Given the description of an element on the screen output the (x, y) to click on. 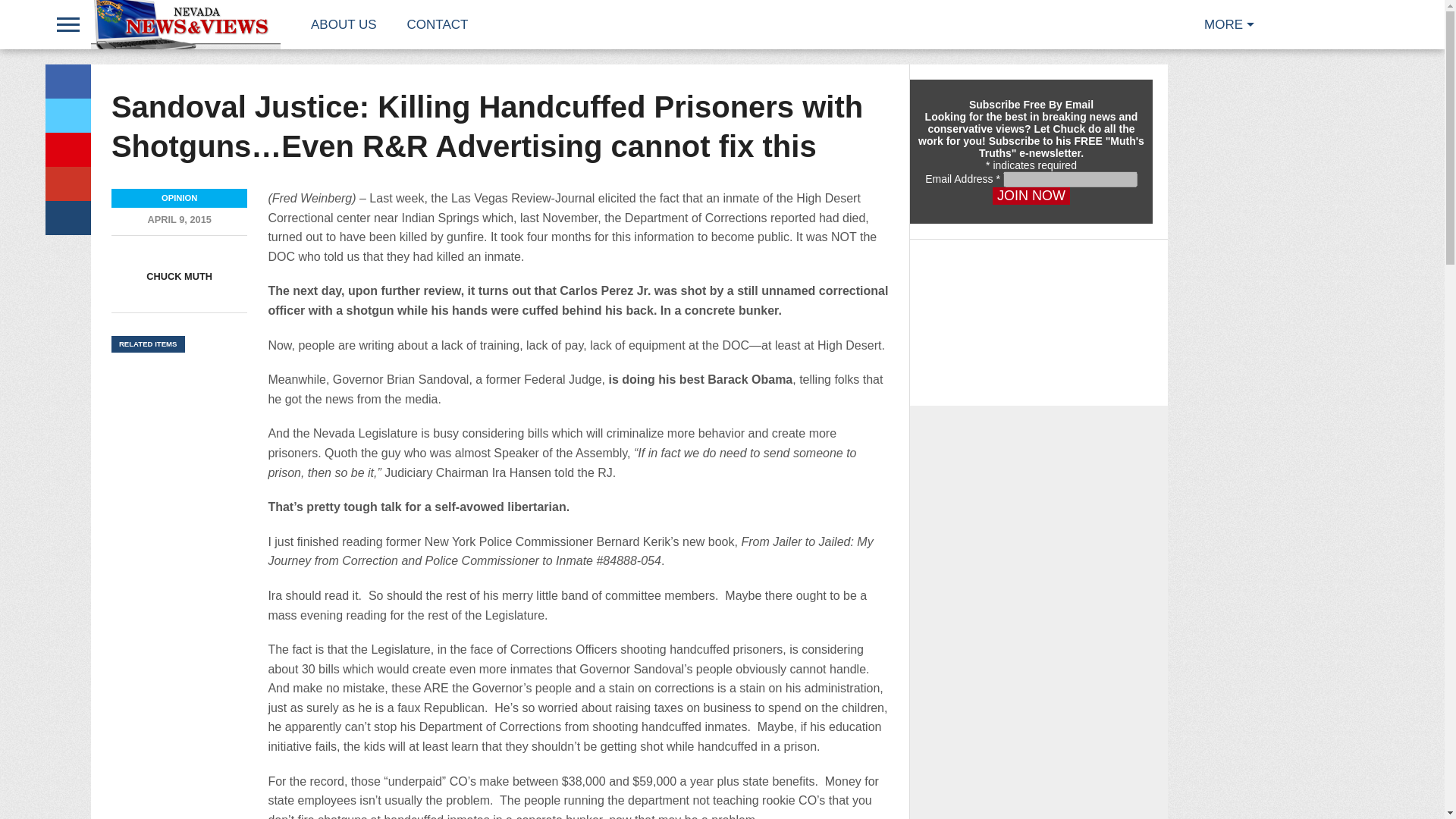
Share on Facebook (67, 81)
Posts by Chuck Muth (179, 276)
Join Now (1031, 195)
Tweet This Post (67, 115)
Pin This Post (67, 149)
